Given the description of an element on the screen output the (x, y) to click on. 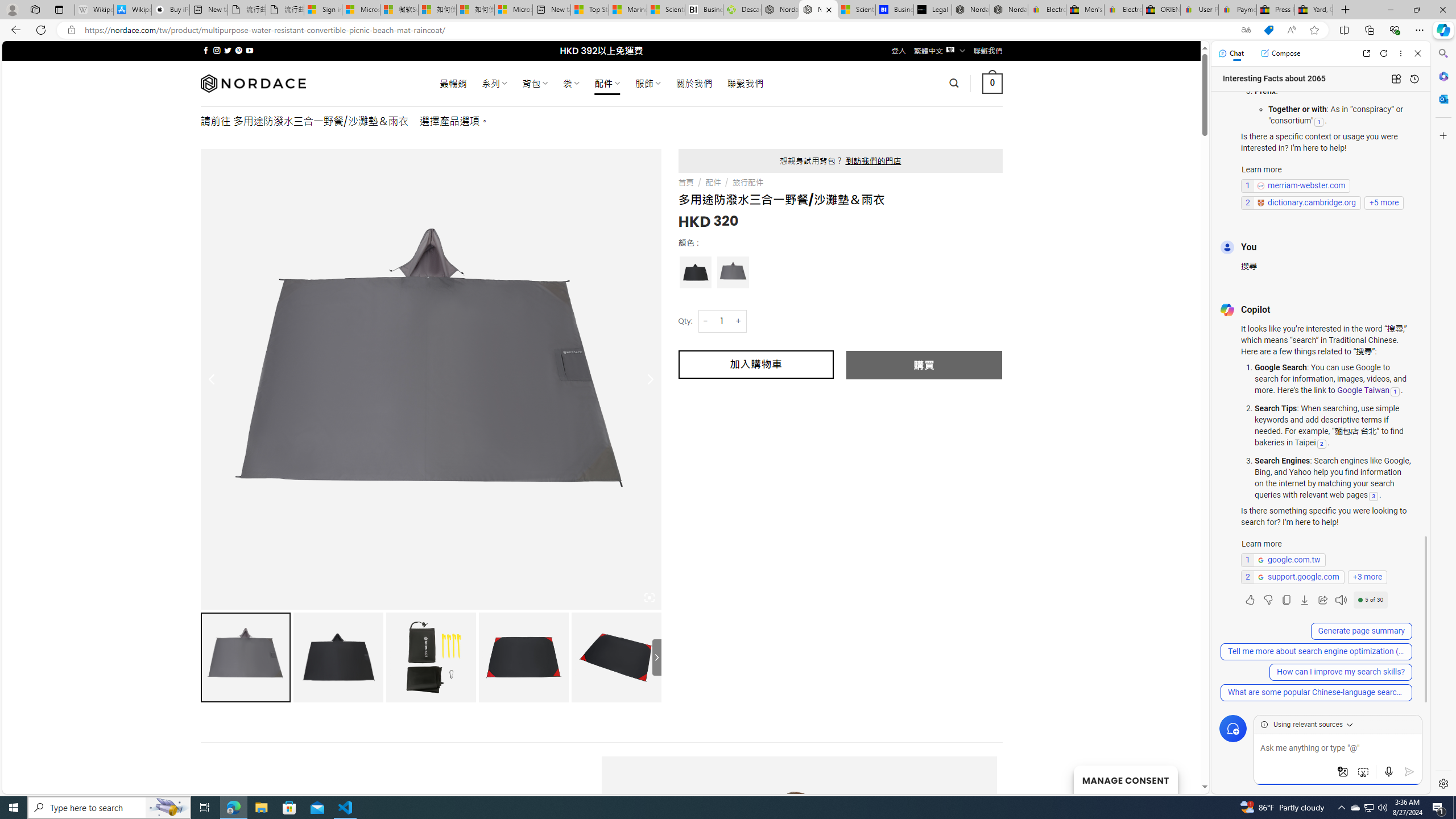
Follow on Twitter (227, 50)
